Given the description of an element on the screen output the (x, y) to click on. 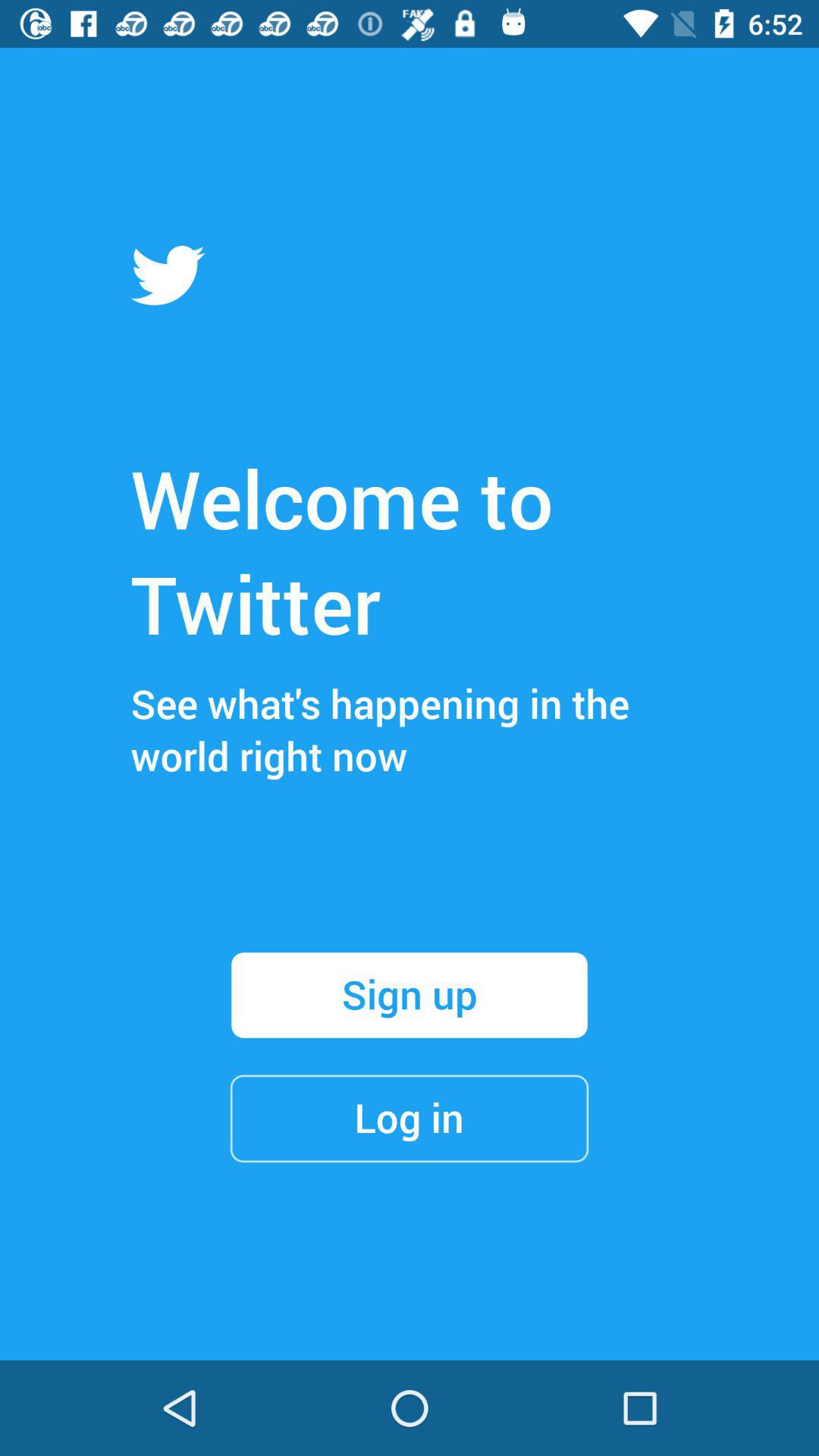
turn off the log in icon (409, 1118)
